Given the description of an element on the screen output the (x, y) to click on. 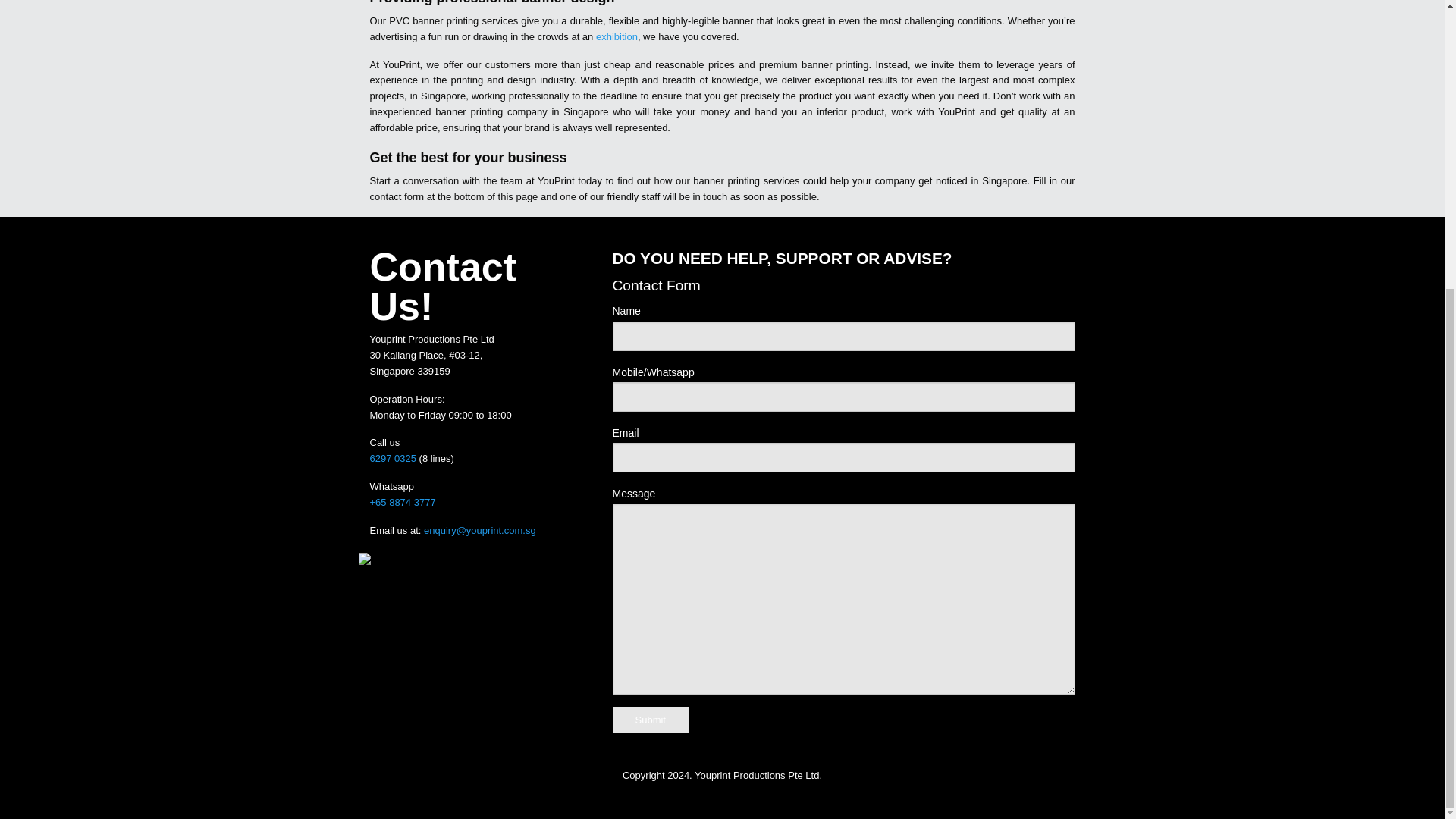
Submit (650, 719)
